Given the description of an element on the screen output the (x, y) to click on. 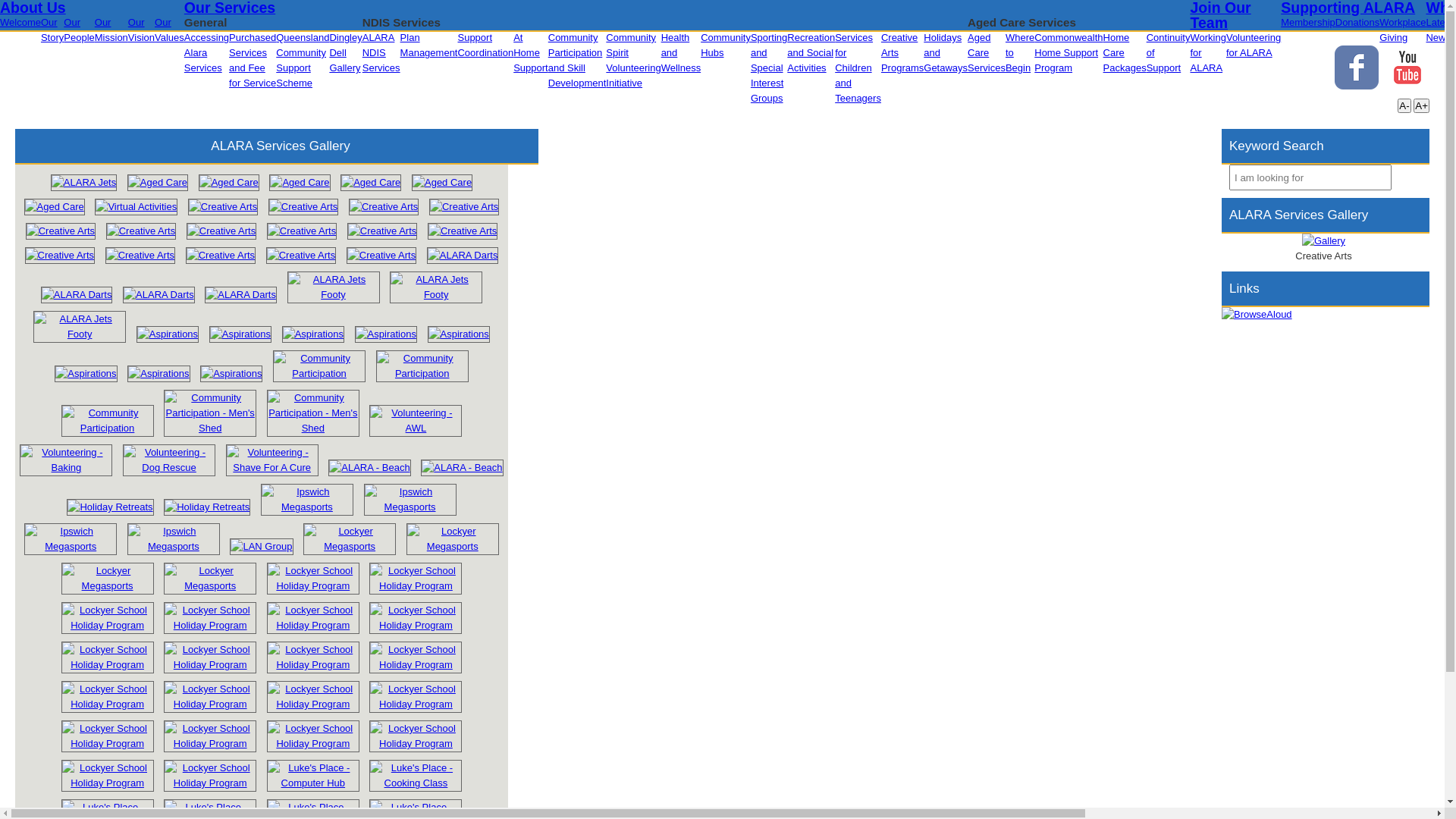
Community Participation Element type: hover (107, 420)
Aged Care Element type: hover (370, 182)
Skip to content Element type: text (32, 6)
Lockyer Megasports Element type: hover (452, 546)
Continuity of Support Element type: text (1168, 52)
ALARA NDIS Services Element type: text (381, 52)
Donations Element type: text (1357, 22)
Services for Children and Teenagers Element type: text (857, 67)
ALARA - Beach Element type: hover (369, 467)
ALARA - Beach Element type: hover (369, 467)
Our Vision Element type: text (141, 29)
Aspirations Element type: hover (313, 334)
Lockyer Megasports Element type: hover (210, 585)
Aged Care Element type: hover (299, 182)
ALARA Jets Footy Element type: hover (333, 287)
Lockyer School Holiday Program Element type: hover (415, 578)
Our Mission Element type: text (111, 29)
Lockyer School Holiday Program Element type: hover (313, 664)
Creative Arts Element type: hover (140, 230)
Lockyer School Holiday Program Element type: hover (107, 782)
Creative Arts Element type: hover (222, 206)
Aged Care Element type: hover (157, 182)
Lockyer Megasports Element type: hover (209, 578)
Lockyer School Holiday Program Element type: hover (415, 736)
Workplace Giving Element type: text (1402, 29)
Creative Arts Element type: hover (140, 255)
Lockyer School Holiday Program Element type: hover (312, 696)
Creative Arts Element type: hover (139, 254)
ALARA - Beach Element type: hover (461, 467)
Aspirations Element type: hover (231, 373)
Volunteering - Dog Rescue Element type: hover (169, 467)
ALARA Darts Element type: hover (462, 255)
Community Participation Element type: hover (422, 366)
Creative Arts Element type: hover (301, 230)
Luke's Place - Cooking Class Element type: hover (415, 775)
Aged Care Element type: hover (370, 182)
Creative Arts Element type: hover (381, 230)
Aged Care Element type: hover (54, 206)
YouTube Element type: hover (1407, 67)
Our People Element type: text (78, 29)
Lockyer School Holiday Program Element type: hover (415, 624)
Creative Arts Element type: hover (60, 230)
Luke's Place - Computer Hub Element type: hover (312, 775)
Lockyer School Holiday Program Element type: hover (107, 624)
Lockyer School Holiday Program Element type: hover (312, 617)
Creative Arts Element type: hover (222, 206)
Aspirations Element type: hover (158, 373)
Aspirations Element type: hover (85, 373)
Lockyer School Holiday Program Element type: hover (209, 775)
Aspirations Element type: hover (385, 333)
At Home Support Element type: text (530, 52)
Ipswich Megasports Element type: hover (173, 539)
Lockyer School Holiday Program Element type: hover (107, 736)
Lockyer School Holiday Program Element type: hover (313, 703)
Lockyer School Holiday Program Element type: hover (107, 664)
Creative Arts Element type: hover (462, 230)
Lockyer School Holiday Program Element type: hover (210, 782)
Aspirations Element type: hover (158, 373)
Lockyer School Holiday Program Element type: hover (415, 696)
ALARA Darts Element type: hover (462, 254)
ALARA Jets Footy Element type: hover (435, 287)
Lockyer School Holiday Program Element type: hover (107, 696)
Accessing Alara Services Element type: text (206, 52)
LAN Group Element type: hover (260, 546)
Aspirations Element type: hover (240, 333)
Community Participation Element type: hover (422, 373)
Volunteering - Baking Element type: hover (65, 467)
Lockyer School Holiday Program Element type: hover (210, 624)
Aged Care Element type: hover (228, 182)
Creative Arts Element type: hover (59, 254)
ALARA Darts Element type: hover (76, 294)
Lockyer School Holiday Program Element type: hover (210, 664)
Aged Care Element type: hover (441, 182)
ALARA Darts Element type: hover (240, 294)
Community Hubs Element type: text (725, 44)
ALARA Jets  Element type: hover (83, 182)
Our Values Element type: text (169, 29)
Working for ALARA Element type: text (1207, 52)
Volunteering - AWL Element type: hover (415, 420)
Creative Arts Element type: hover (59, 255)
Lockyer School Holiday Program Element type: hover (209, 736)
Ipswich Megasports Element type: hover (307, 506)
Welcome Element type: text (20, 22)
Aspirations Element type: hover (458, 333)
Lockyer School Holiday Program Element type: hover (415, 657)
Virtual Activities Element type: hover (136, 206)
LAN Group Element type: hover (260, 546)
Ipswich Megasports Element type: hover (173, 546)
Plan Management Element type: text (429, 44)
Holiday Retreats Element type: hover (206, 506)
ALARA Darts Element type: hover (158, 294)
Lockyer School Holiday Program Element type: hover (415, 585)
Ipswich Megasports Element type: hover (410, 506)
Community Participation and Skill Development Element type: text (577, 59)
Latest News Element type: text (1438, 29)
Creative Arts Element type: hover (301, 230)
Volunteering - Baking Element type: hover (65, 460)
Community Spirit Volunteering Initiative Element type: text (632, 59)
Lockyer School Holiday Program Element type: hover (209, 696)
Membership Element type: text (1307, 22)
Lockyer School Holiday Program Element type: hover (415, 617)
Aspirations Element type: hover (458, 334)
Reduce text size Element type: hover (1403, 105)
ALARA Jets Footy Element type: hover (435, 294)
Lockyer School Holiday Program Element type: hover (313, 585)
ALARA Jets Footy Element type: hover (333, 294)
Lockyer School Holiday Program Element type: hover (107, 617)
Aged Care Element type: hover (441, 182)
Purchased Services and Fee for Service Element type: text (252, 59)
Creative Arts Element type: hover (300, 255)
Lockyer School Holiday Program Element type: hover (209, 617)
Creative Arts Element type: hover (221, 230)
Creative Arts Element type: hover (381, 254)
Volunteering - Shave For A Cure Element type: hover (272, 467)
Lockyer School Holiday Program Element type: hover (415, 743)
Commonwealth Home Support Program Element type: text (1068, 52)
Creative Arts Element type: hover (220, 255)
Creative Arts Element type: hover (463, 206)
Facebook Element type: hover (1356, 67)
Recreation and Social Activities Element type: text (810, 52)
Virtual Activities Element type: hover (135, 206)
Lockyer School Holiday Program Element type: hover (415, 664)
Lockyer School Holiday Program Element type: hover (209, 657)
ALARA Darts Element type: hover (240, 294)
Aspirations Element type: hover (385, 334)
Ipswich Megasports Element type: hover (70, 546)
Lockyer School Holiday Program Element type: hover (107, 703)
Aged Care Element type: hover (228, 182)
Lockyer School Holiday Program Element type: hover (312, 657)
Aspirations Element type: hover (313, 333)
Volunteering - Shave For A Cure Element type: hover (271, 460)
Lockyer Megasports Element type: hover (452, 539)
Home Care Packages Element type: text (1124, 52)
Lockyer School Holiday Program Element type: hover (313, 743)
Lockyer School Holiday Program Element type: hover (312, 578)
Community Participation - Men's Shed Element type: hover (210, 427)
Aged Care Element type: hover (54, 206)
Community Participation Element type: hover (319, 366)
Holiday Retreats Element type: hover (109, 506)
Aspirations Element type: hover (167, 333)
Volunteering - AWL Element type: hover (415, 427)
Aspirations Element type: hover (85, 373)
ALARA Darts Element type: hover (158, 294)
Ipswich Megasports Element type: hover (70, 539)
Sporting and Special Interest Groups Element type: text (768, 67)
Creative Arts Element type: hover (140, 230)
Holidays and Getaways Element type: text (945, 52)
Creative Arts Element type: hover (383, 206)
Lockyer School Holiday Program Element type: hover (210, 743)
Lockyer Megasports Element type: hover (107, 585)
Creative Arts Programs Element type: text (902, 52)
Creative Arts Element type: hover (60, 230)
Health and Wellness Element type: text (681, 52)
ALARA Jets Footy Element type: hover (79, 333)
Community Participation - Men's Shed Element type: hover (313, 427)
Lockyer School Holiday Program Element type: hover (415, 703)
Lockyer Megasports Element type: hover (349, 539)
Go Element type: text (1404, 176)
Increase text size Element type: hover (1421, 105)
Lockyer School Holiday Program Element type: hover (210, 703)
Creative Arts Element type: hover (303, 206)
Aged Care Element type: hover (157, 182)
Lockyer School Holiday Program Element type: hover (107, 743)
Community Participation Element type: hover (319, 373)
Ipswich Megasports Element type: hover (306, 499)
Volunteering for ALARA Element type: text (1253, 44)
Creative Arts Element type: hover (381, 255)
Creative Arts Element type: hover (462, 230)
Queensland Community Support Scheme Element type: text (302, 59)
ALARA Darts Element type: hover (76, 294)
Luke's Place - Cooking Class Element type: hover (415, 782)
Holiday Retreats Element type: hover (207, 506)
Aspirations Element type: hover (240, 334)
Holiday Retreats Element type: hover (109, 506)
Creative Arts Element type: hover (463, 206)
Aged Care Element type: hover (299, 182)
Ipswich Megasports Element type: hover (410, 499)
Creative Arts Element type: hover (303, 206)
Dingley Dell Gallery Element type: text (345, 52)
Community Participation Element type: hover (107, 427)
Aspirations Element type: hover (167, 334)
Creative Arts Element type: hover (383, 206)
Community Participation - Men's Shed Element type: hover (312, 412)
Lockyer Megasports Element type: hover (107, 578)
Luke's Place - Computer Hub Element type: hover (313, 782)
Aspirations Element type: hover (231, 373)
Lockyer Megasports Element type: hover (349, 546)
ALARA Jets Footy Element type: hover (79, 326)
Support Coordination Element type: text (485, 44)
Volunteering - Dog Rescue Element type: hover (168, 460)
Community Participation - Men's Shed Element type: hover (209, 412)
Creative Arts Element type: hover (221, 230)
Our Story Element type: text (51, 29)
Lockyer School Holiday Program Element type: hover (107, 657)
ALARA - Beach Element type: hover (461, 467)
ALARA Jets  Element type: hover (83, 182)
Creative Arts Element type: hover (382, 230)
Lockyer School Holiday Program Element type: hover (313, 624)
Creative Arts Element type: hover (220, 254)
Lockyer School Holiday Program Element type: hover (107, 775)
Aged Care Services Element type: text (986, 52)
Lockyer School Holiday Program Element type: hover (312, 736)
Creative Arts Element type: hover (300, 254)
Where to Begin Element type: text (1019, 52)
